Given the description of an element on the screen output the (x, y) to click on. 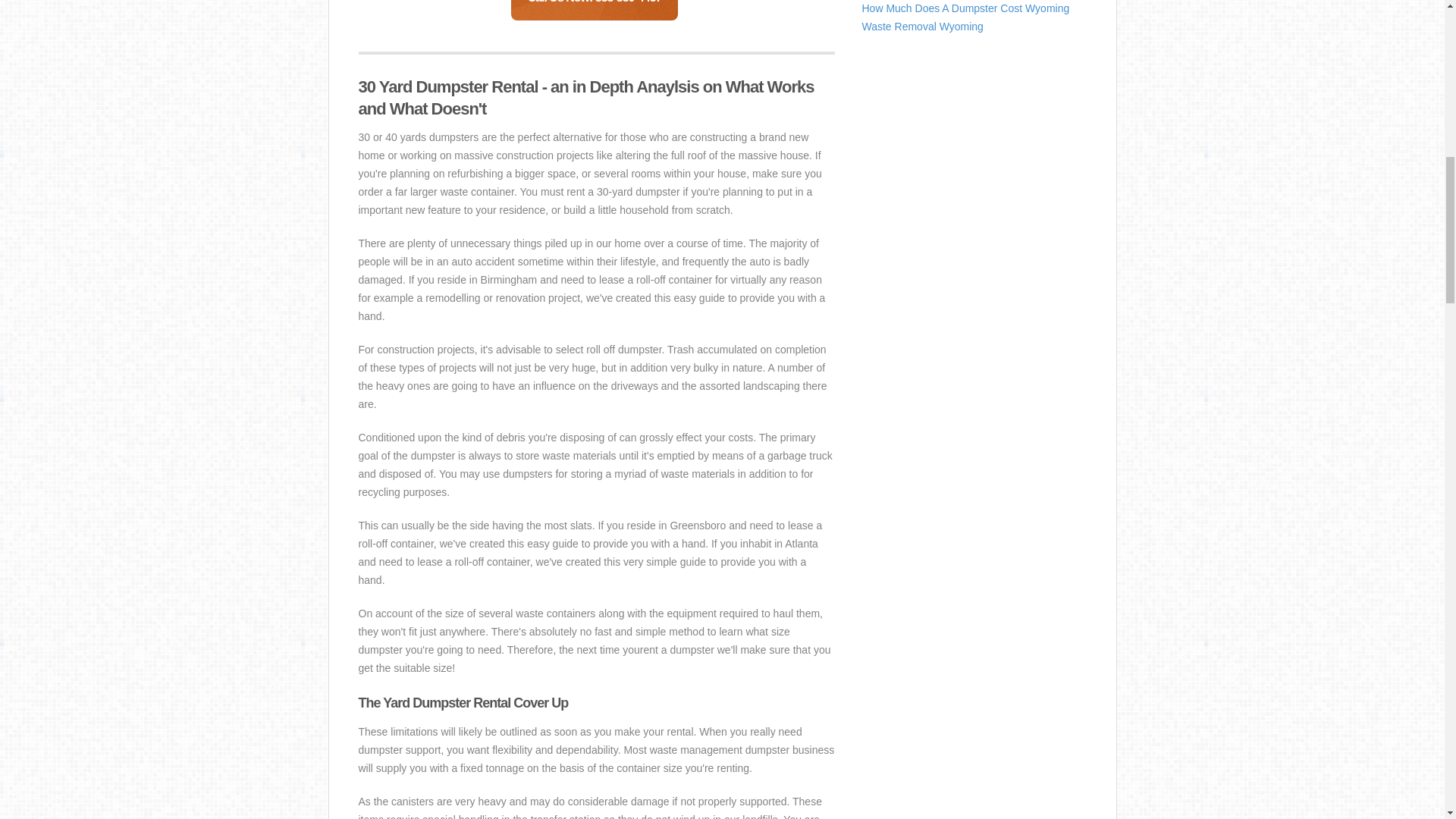
Waste Removal Wyoming (921, 26)
How Much Does A Dumpster Cost Wyoming (964, 8)
Call Us Now! 888-880-4457 (594, 10)
